Given the description of an element on the screen output the (x, y) to click on. 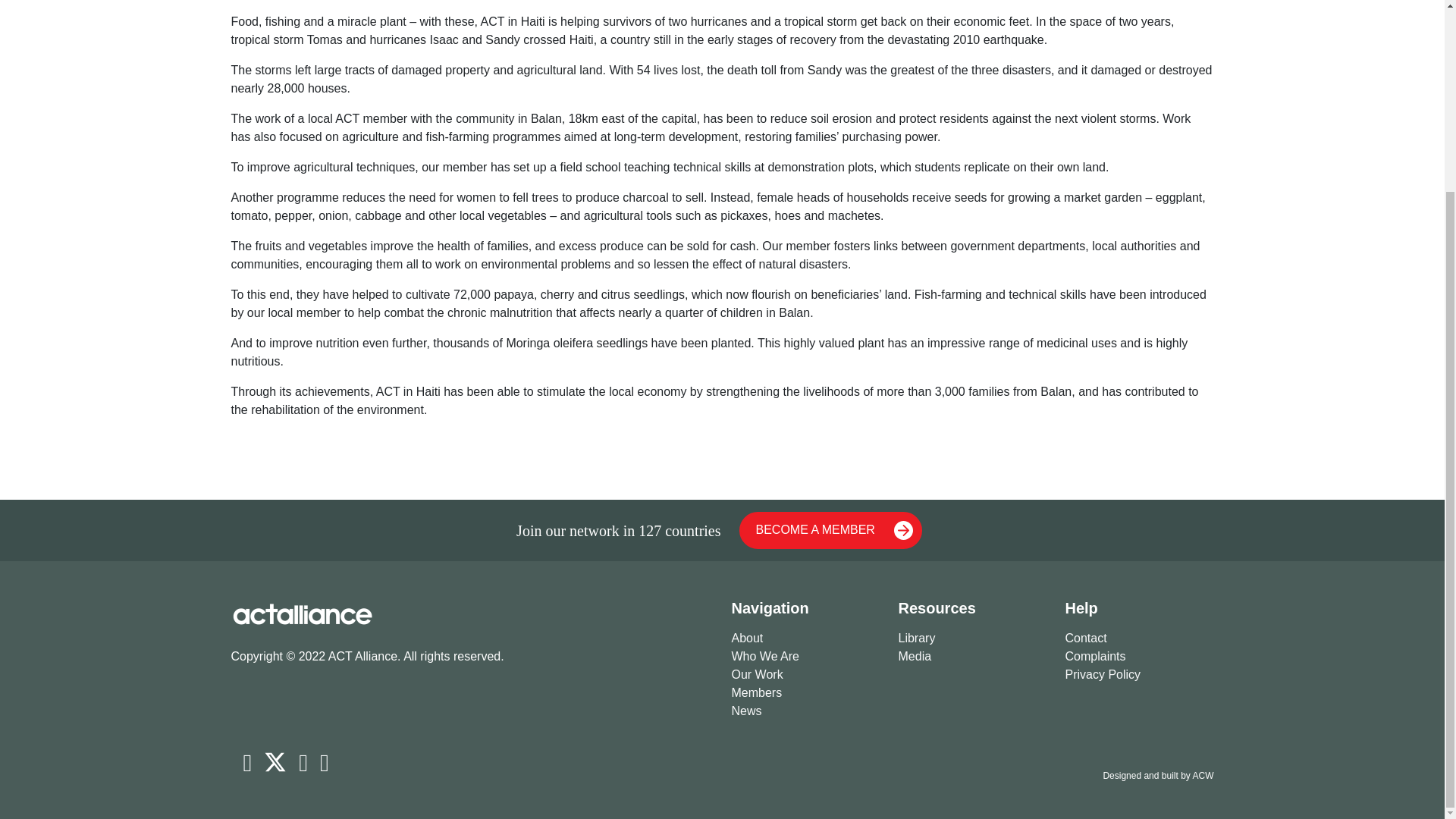
Contact (1138, 638)
BECOME A MEMBER (830, 529)
Who We Are (804, 656)
Members (804, 692)
News (804, 710)
Privacy Policy (1138, 674)
Our Work (804, 674)
Library (972, 638)
Complaints (1138, 656)
About (804, 638)
Media (972, 656)
